Given the description of an element on the screen output the (x, y) to click on. 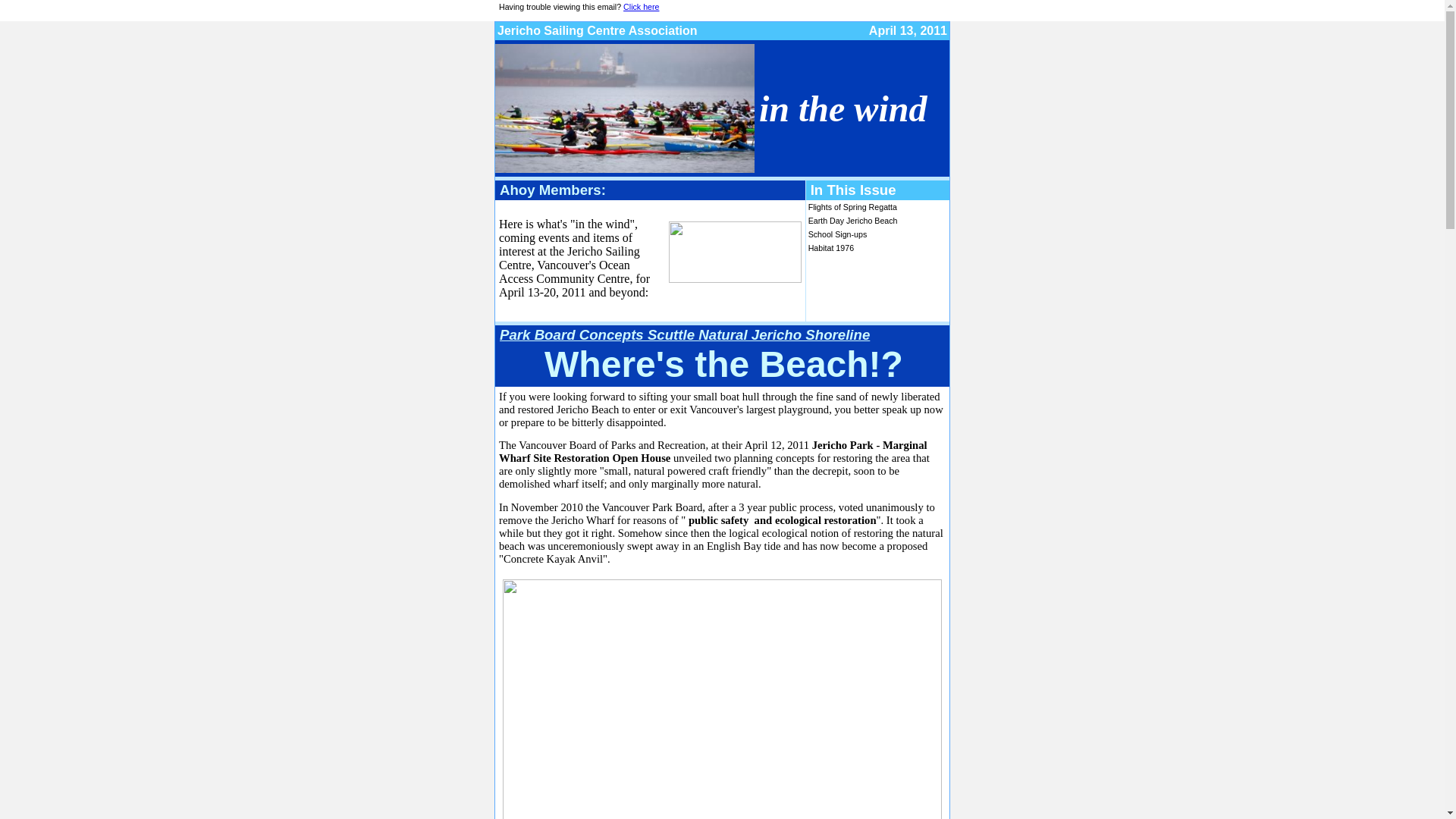
Flights of Spring Regatta Element type: text (852, 206)
School Sign-ups Element type: text (837, 233)
Click here Element type: text (640, 6)
Habitat 1976 Element type: text (830, 247)
Earth Day Jericho Beach Element type: text (852, 220)
